Given the description of an element on the screen output the (x, y) to click on. 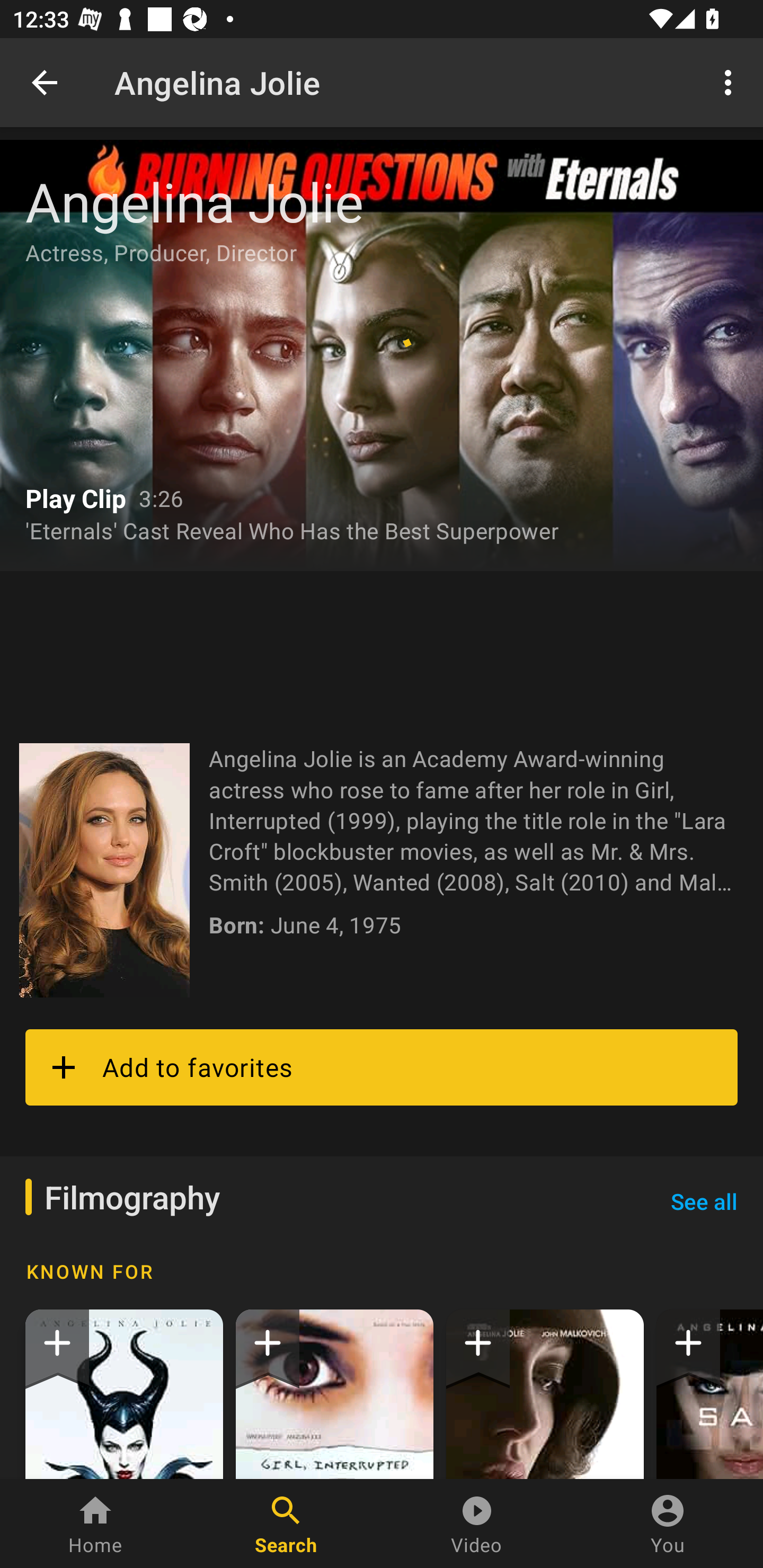
More options (731, 81)
toggle controls (381, 354)
Add to favorites (381, 1066)
See all See all  (703, 1201)
Home (95, 1523)
Video (476, 1523)
You (667, 1523)
